Given the description of an element on the screen output the (x, y) to click on. 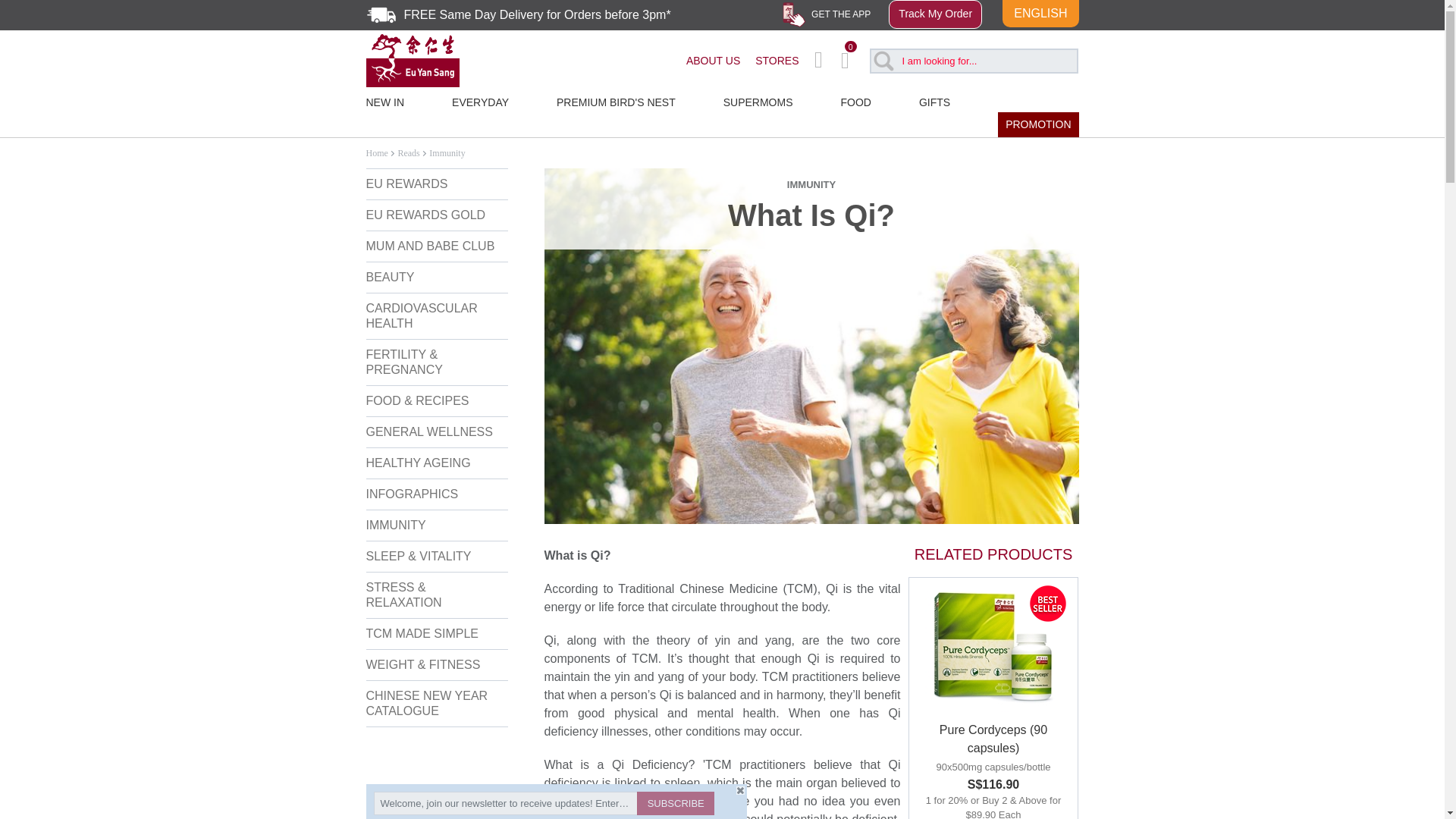
Cart 0 Items (852, 60)
ABOUT US (712, 60)
GET THE APP (824, 15)
NEW IN (396, 99)
STORES (776, 60)
About Us (712, 60)
EVERYDAY (480, 99)
0 (852, 60)
Track My Order (934, 14)
Stores (776, 60)
Eu Yan Sang (411, 59)
